Given the description of an element on the screen output the (x, y) to click on. 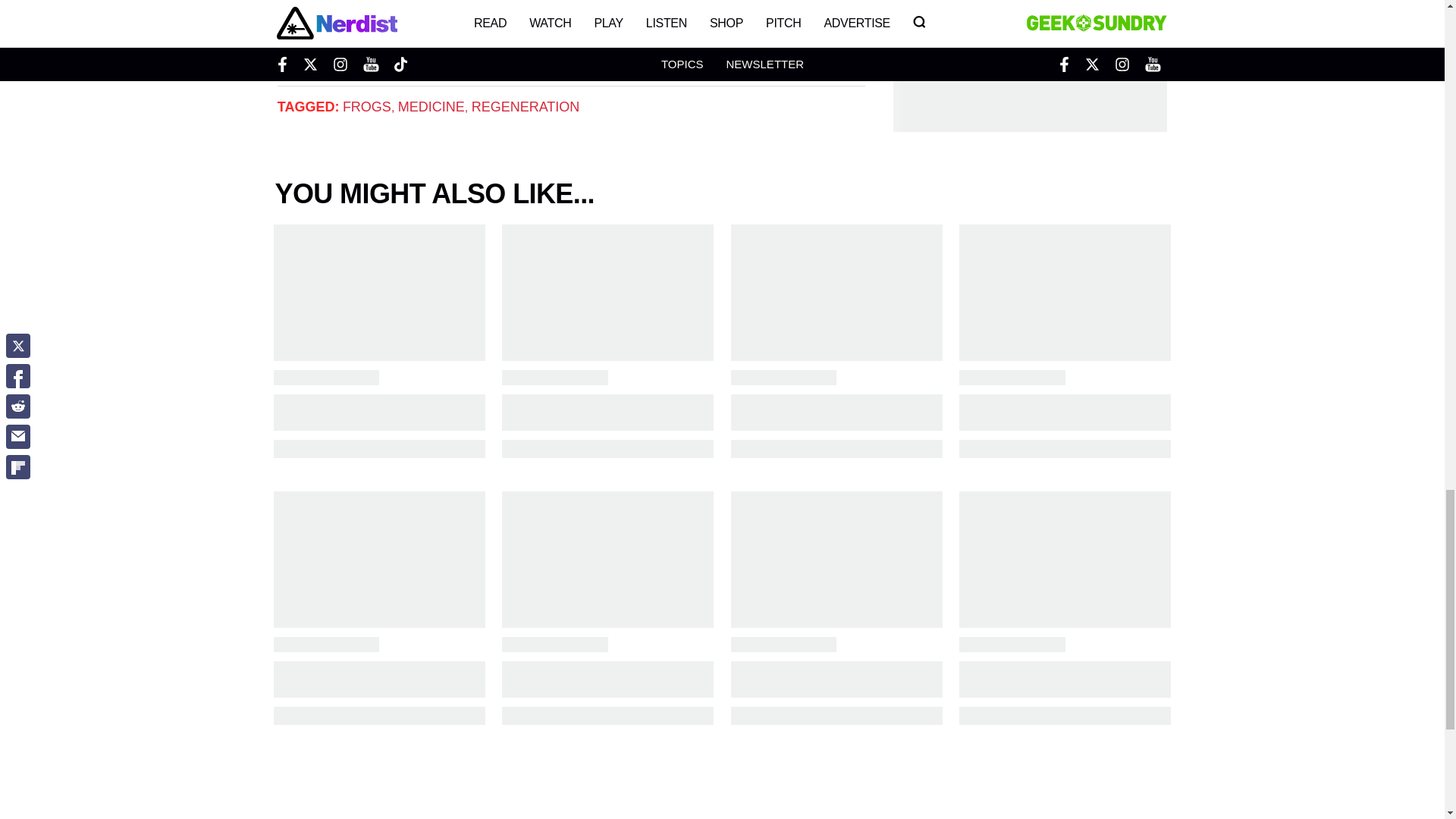
REGENERATION (525, 106)
MEDICINE (430, 106)
FROGS (366, 106)
the future of regeneration (389, 52)
